Given the description of an element on the screen output the (x, y) to click on. 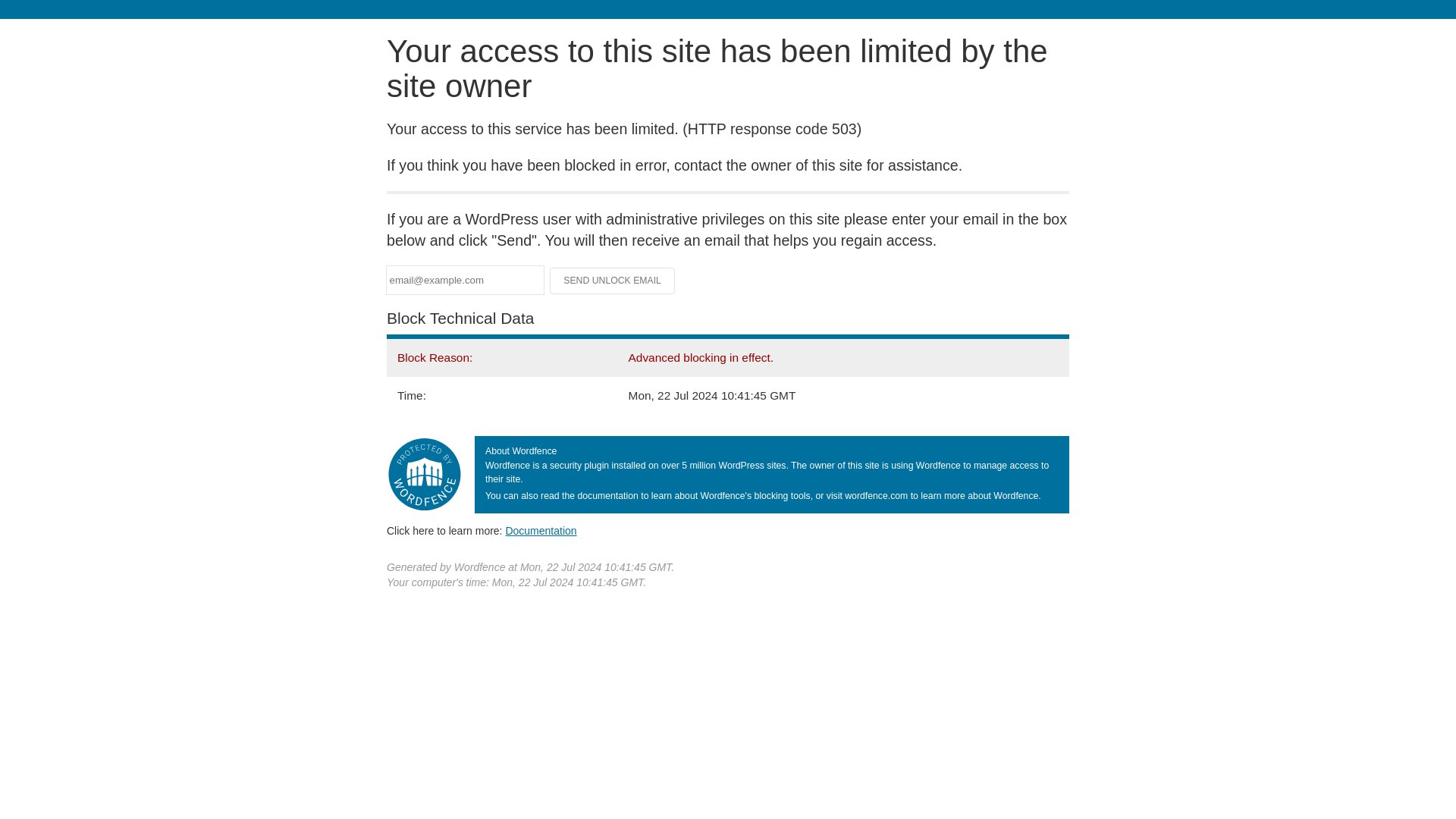
Send Unlock Email (612, 280)
Send Unlock Email (612, 280)
